Given the description of an element on the screen output the (x, y) to click on. 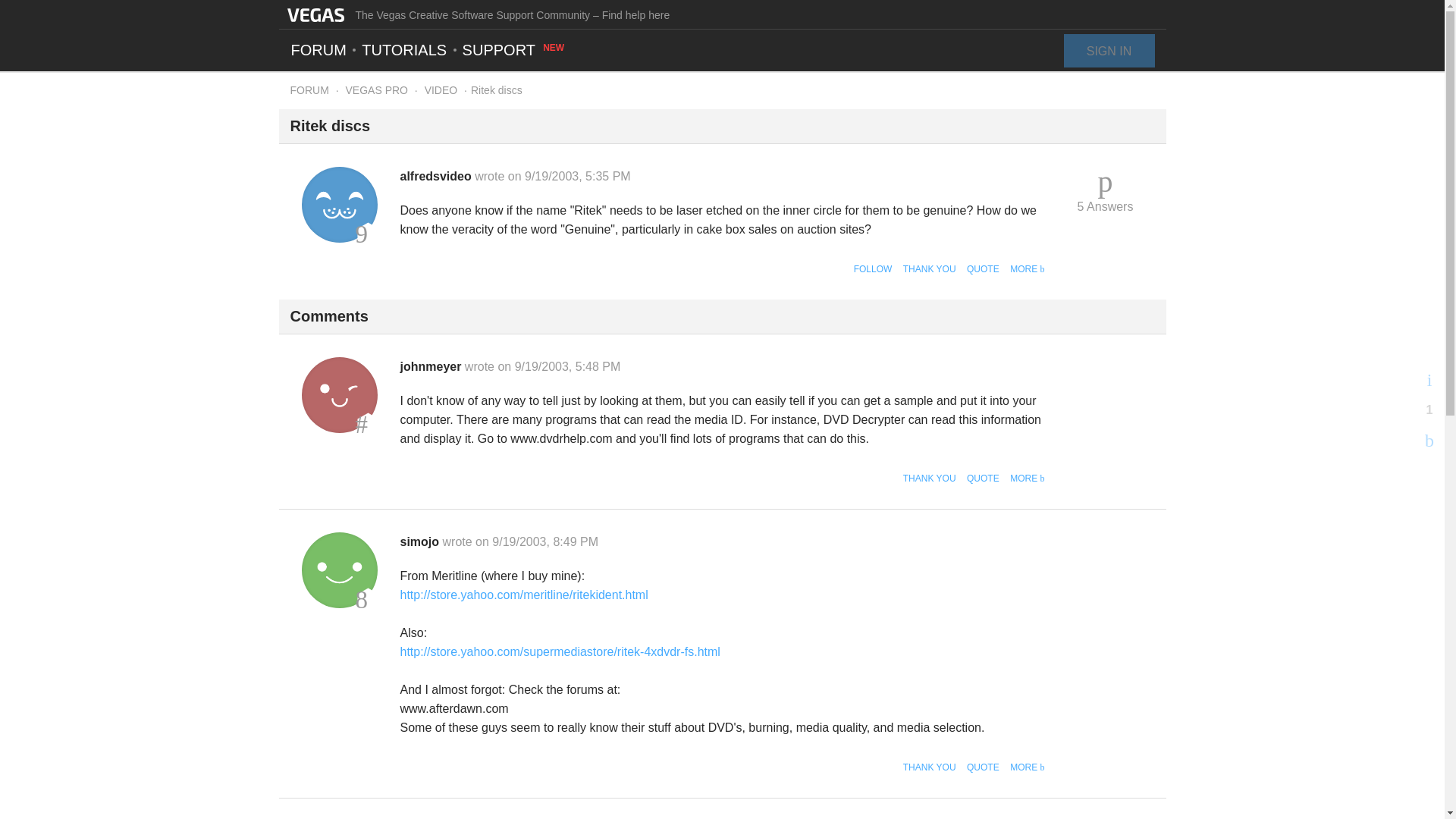
QUOTE (982, 767)
VEGAS PRO (376, 90)
THANK YOU (929, 268)
QUOTE (982, 268)
simojo (421, 541)
FORUM (309, 90)
VEGAS Community (315, 14)
QUOTE (982, 478)
5 Answers (1105, 191)
VIDEO (441, 90)
